Given the description of an element on the screen output the (x, y) to click on. 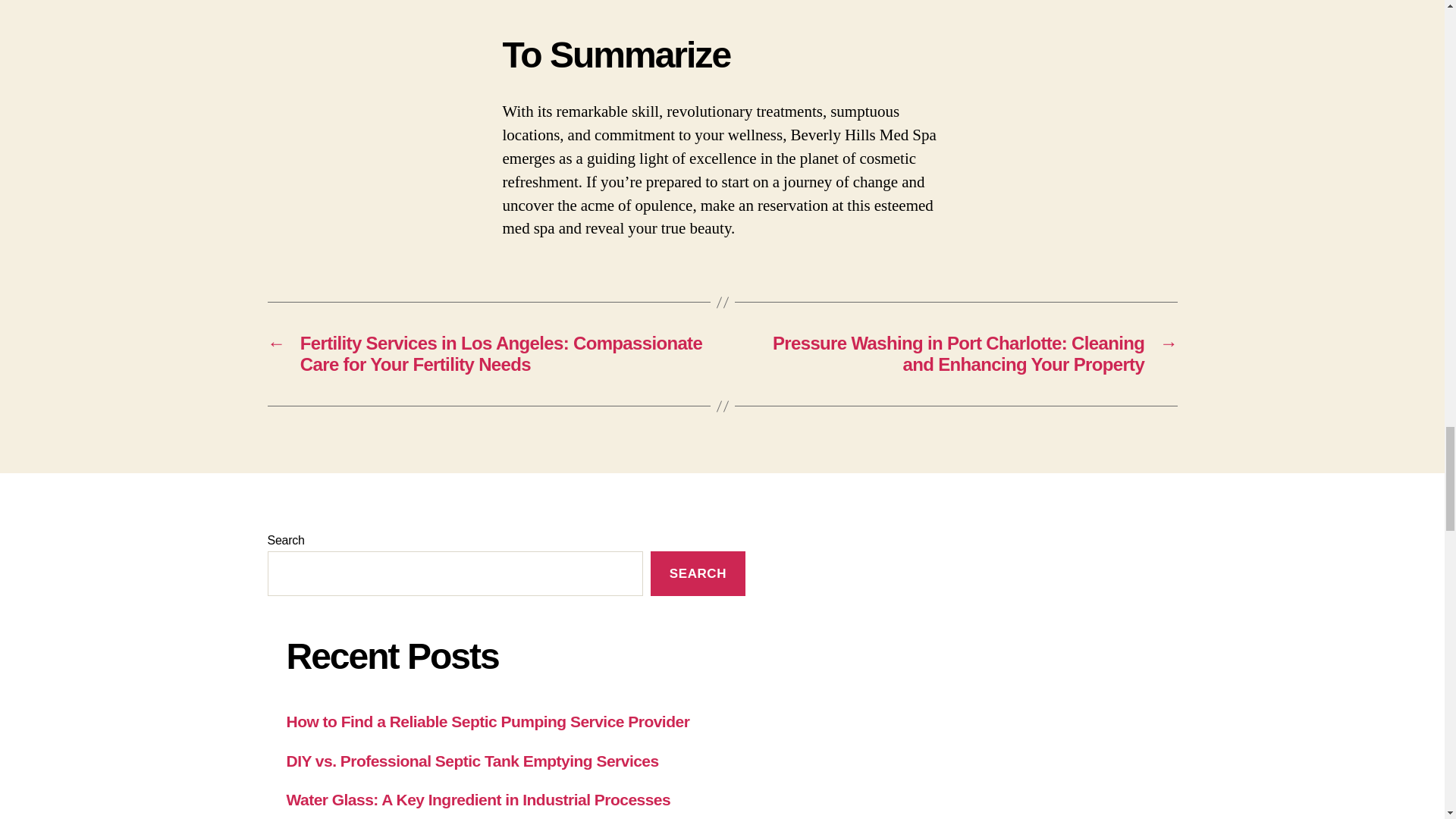
SEARCH (697, 573)
Water Glass: A Key Ingredient in Industrial Processes (478, 799)
DIY vs. Professional Septic Tank Emptying Services (472, 760)
How to Find a Reliable Septic Pumping Service Provider (488, 721)
